Given the description of an element on the screen output the (x, y) to click on. 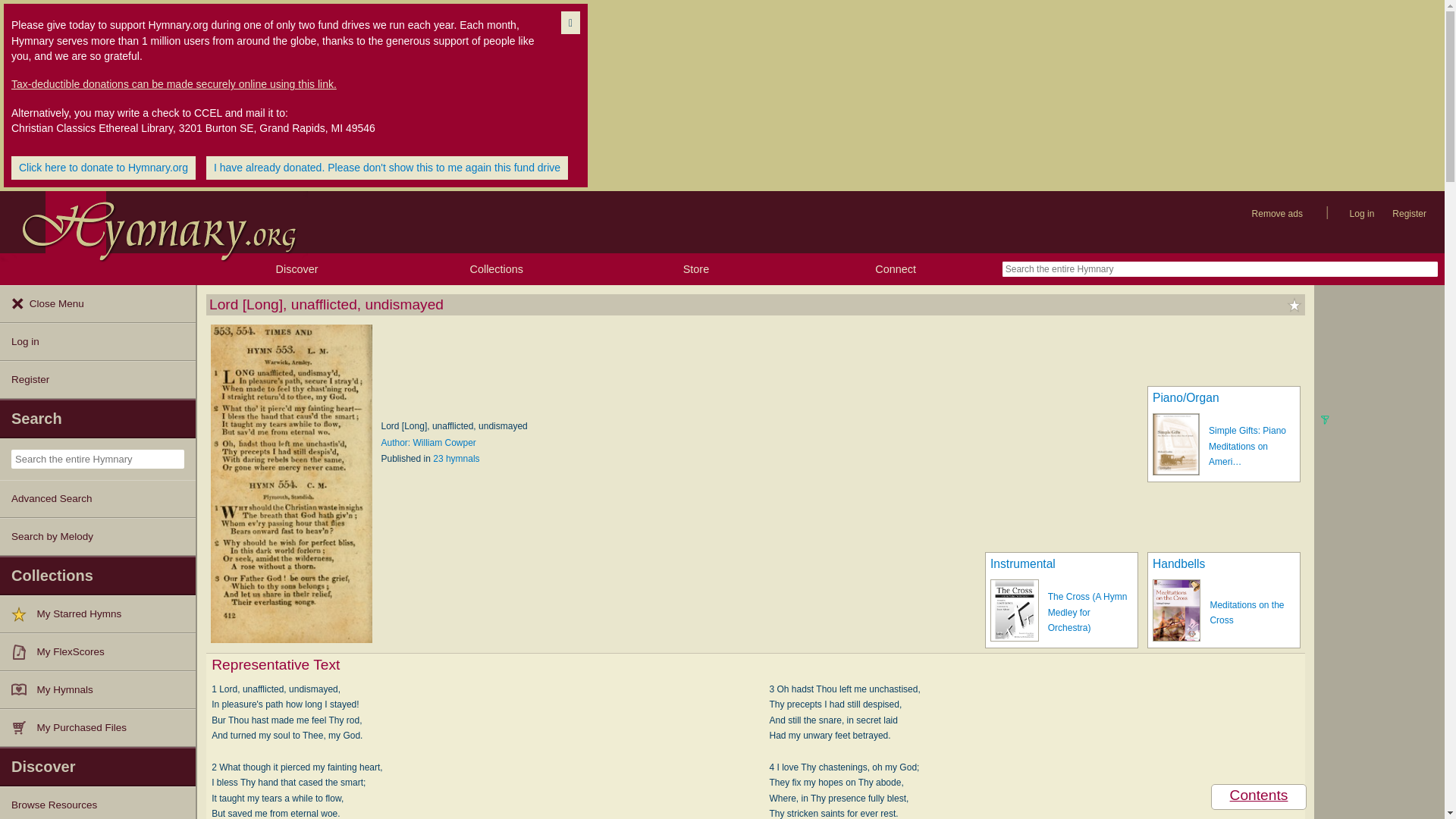
In my hymnals (24, 689)
Click here to donate to Hymnary.org (103, 167)
Add to Starred Hymns (1294, 304)
Product (24, 727)
Home Page (153, 221)
Store (694, 269)
Remove ads (1277, 213)
Flexscore (24, 652)
Register (1408, 213)
Log in (1361, 213)
Close Menu (97, 303)
